Given the description of an element on the screen output the (x, y) to click on. 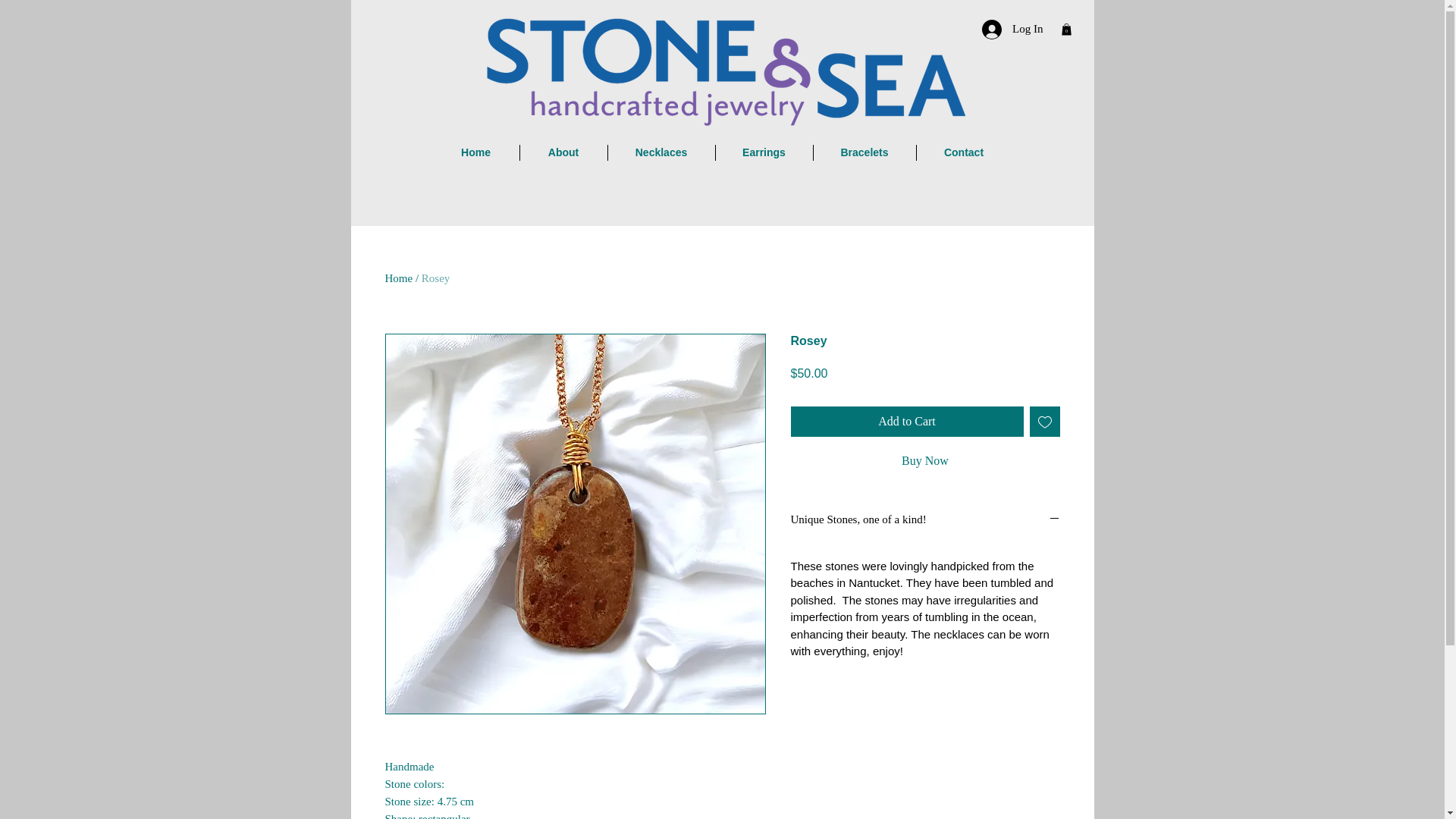
About (563, 152)
Unique Stones, one of a kind! (924, 520)
Add to Cart (906, 421)
Necklaces (661, 152)
Bracelets (863, 152)
Earrings (764, 152)
Home (475, 152)
Contact (962, 152)
Log In (1011, 29)
Rosey (435, 277)
